Given the description of an element on the screen output the (x, y) to click on. 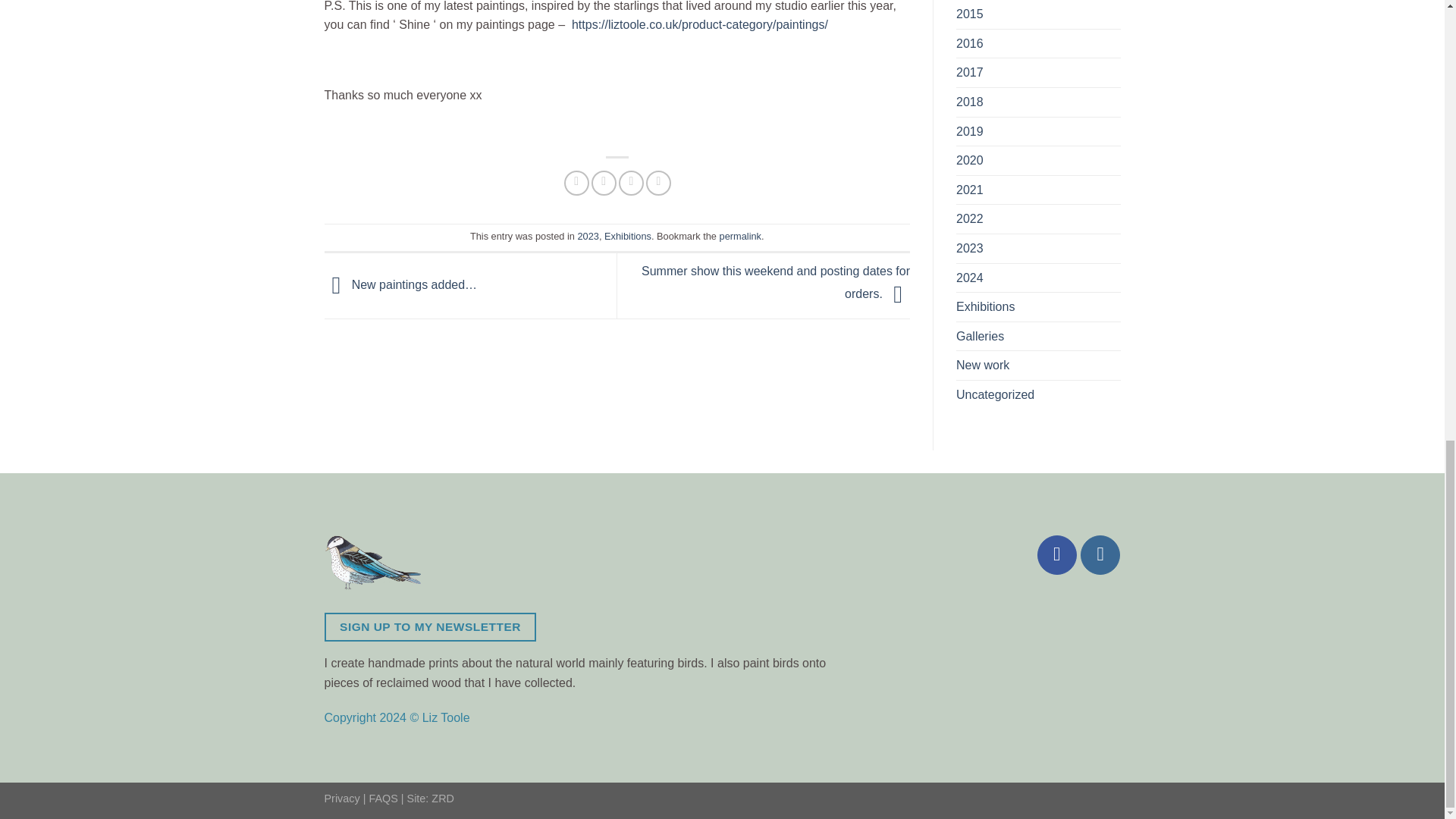
Pin on Pinterest (658, 182)
Follow on Instagram (1099, 554)
Permalink to Next exhibiton and a camping trip (740, 235)
Follow on Facebook (1056, 554)
Email to a Friend (630, 182)
Share on Facebook (576, 182)
Share on Twitter (603, 182)
